Given the description of an element on the screen output the (x, y) to click on. 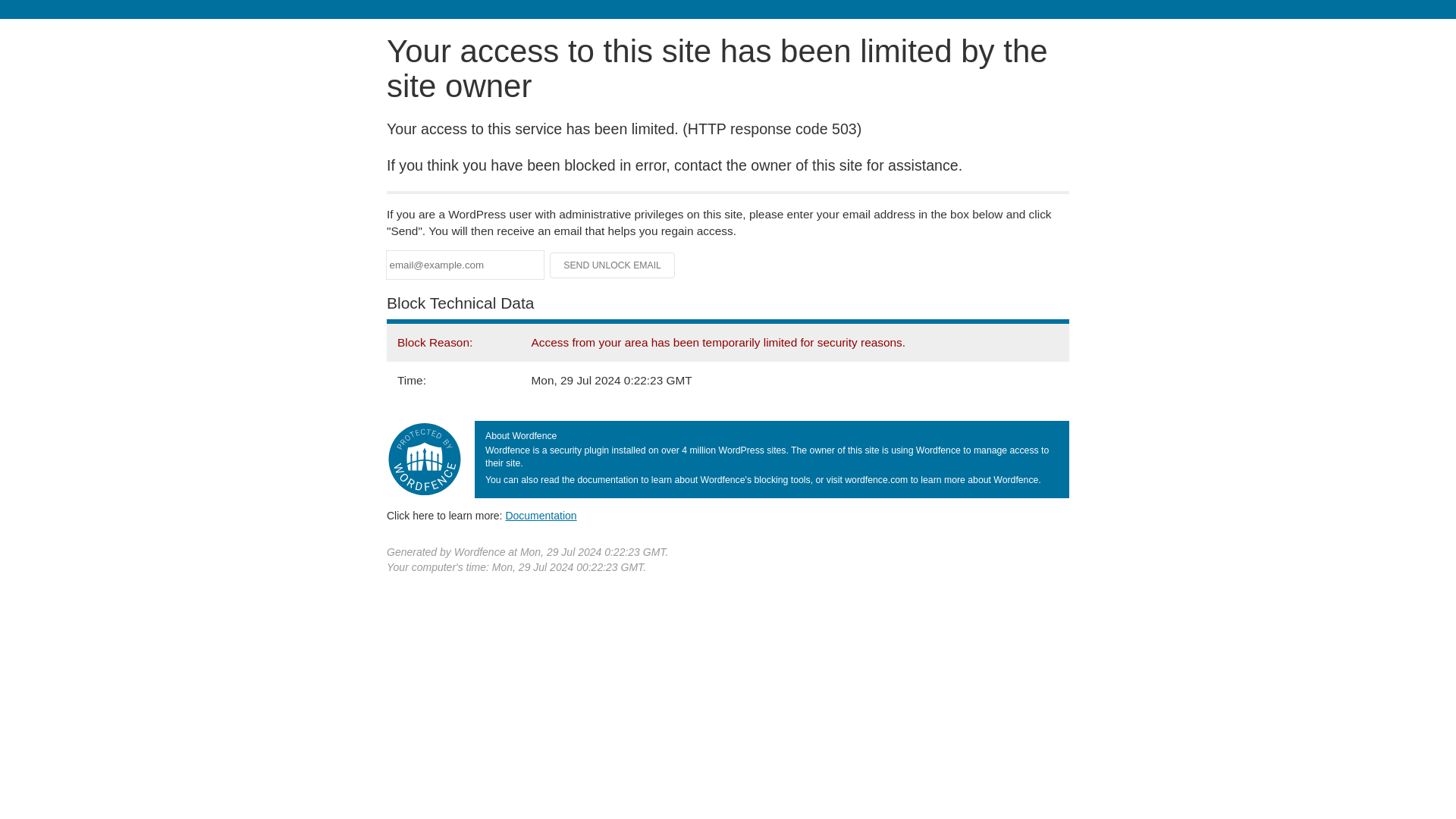
Send Unlock Email (612, 265)
Send Unlock Email (612, 265)
Documentation (540, 515)
